Given the description of an element on the screen output the (x, y) to click on. 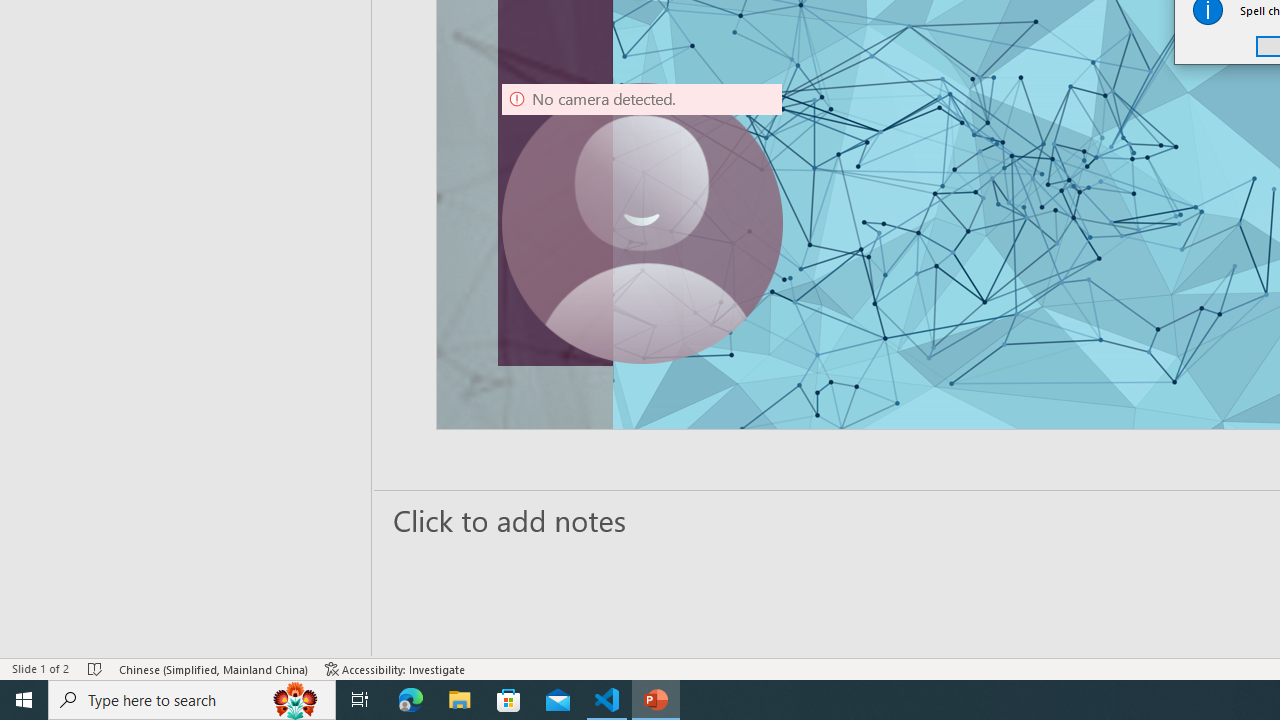
Camera 9, No camera detected. (641, 223)
Microsoft Edge (411, 699)
